Given the description of an element on the screen output the (x, y) to click on. 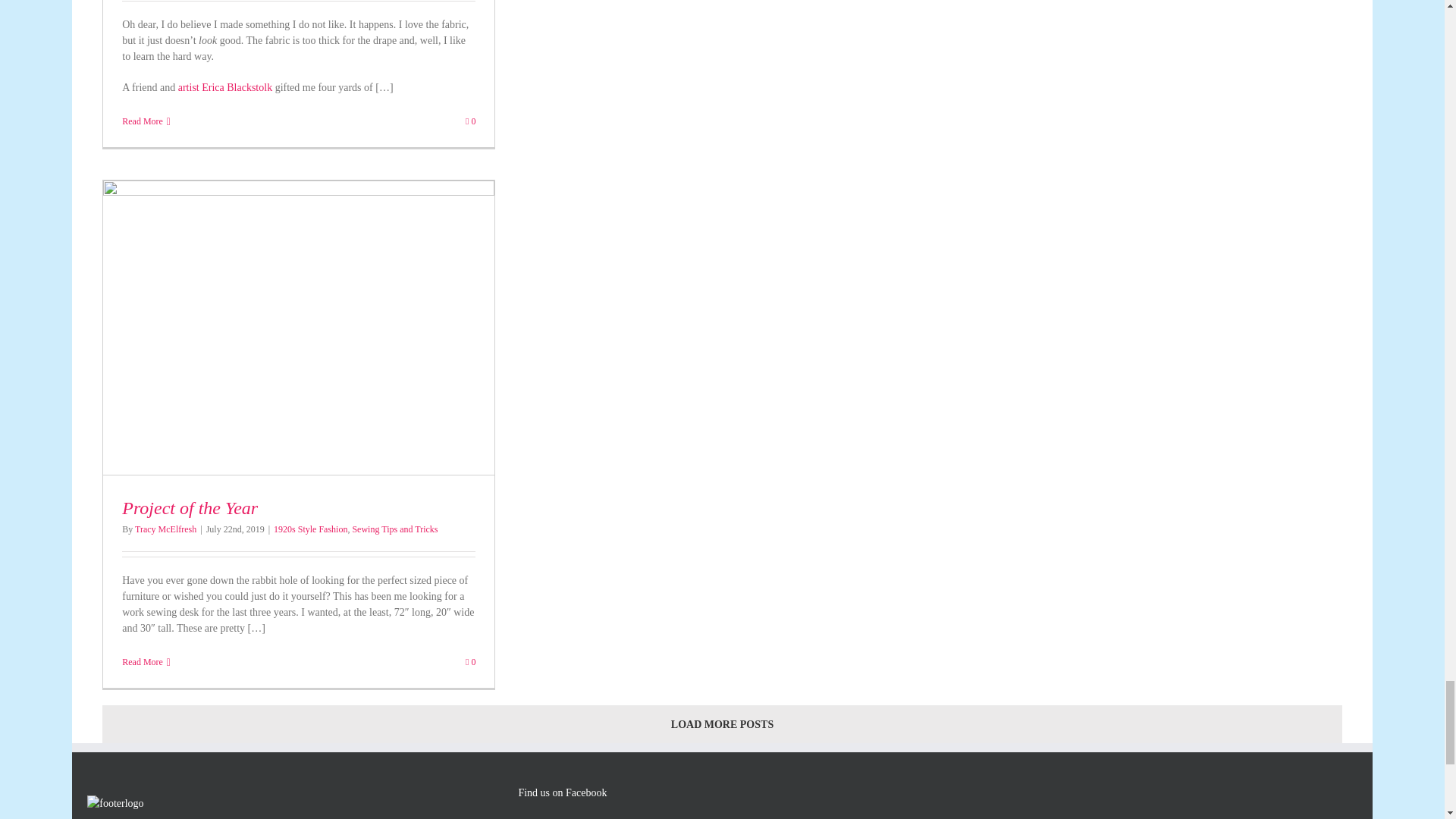
Posts by Tracy McElfresh (165, 529)
